Given the description of an element on the screen output the (x, y) to click on. 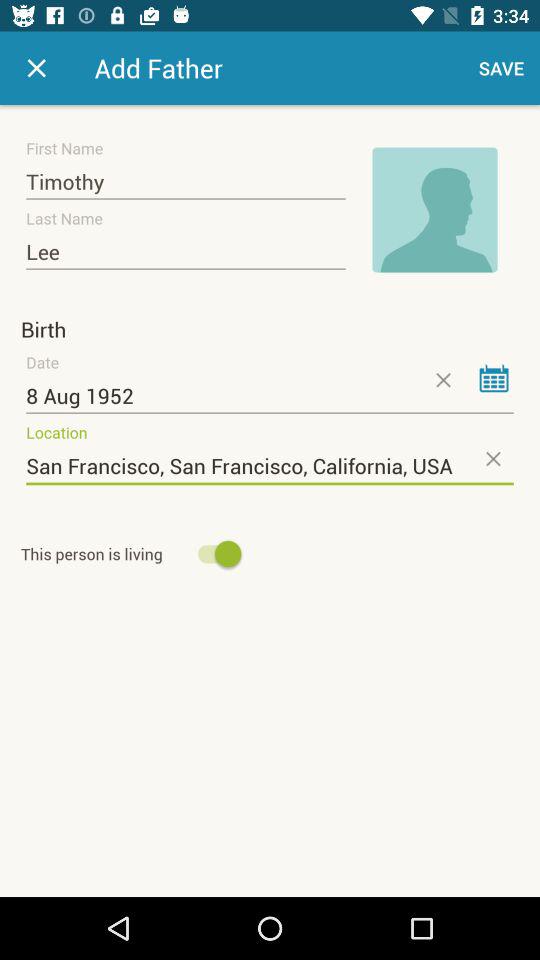
press the icon below the san francisco san icon (133, 553)
